Given the description of an element on the screen output the (x, y) to click on. 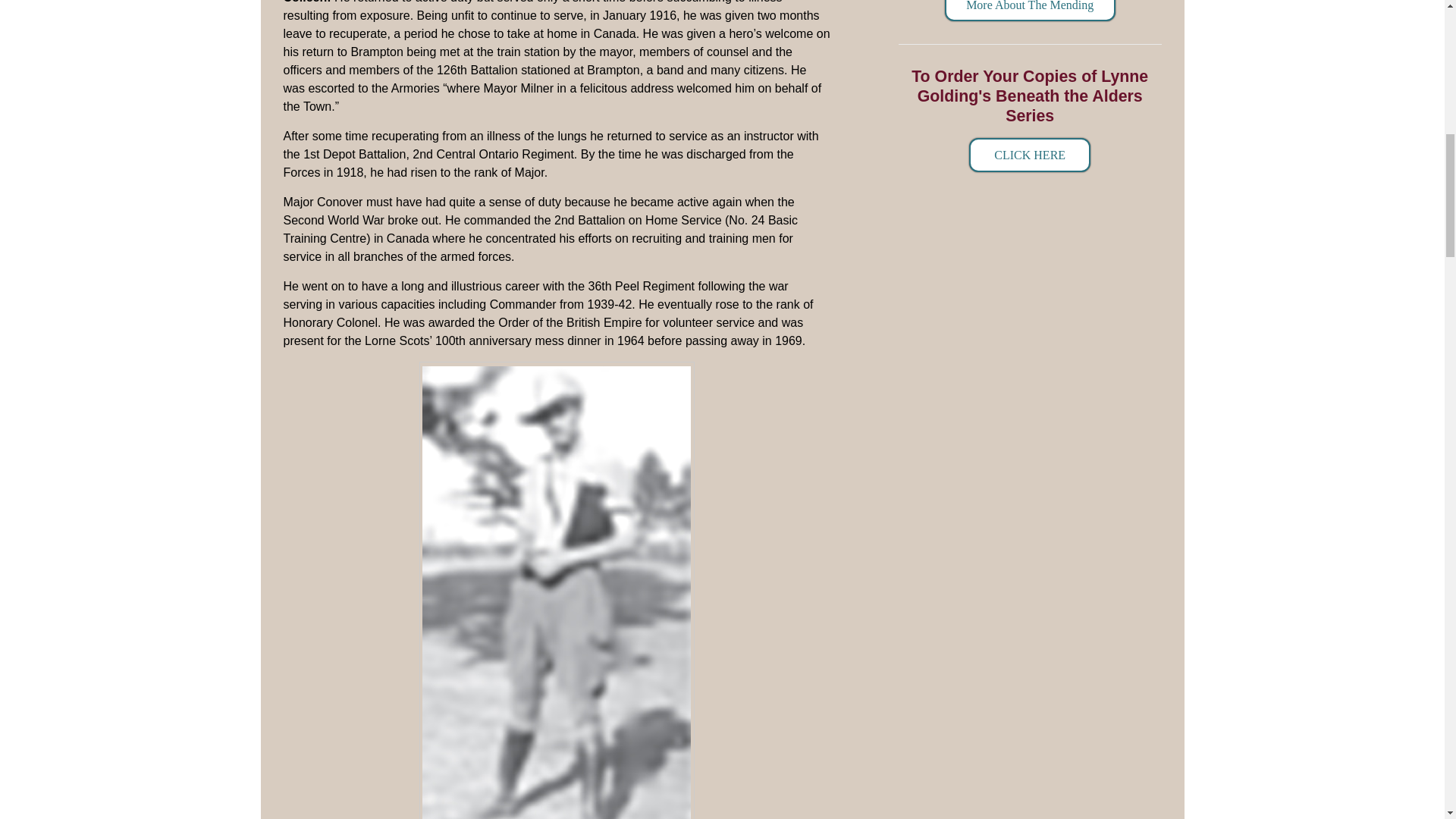
CLICK HERE (1029, 154)
More About The Mending (1029, 10)
